Given the description of an element on the screen output the (x, y) to click on. 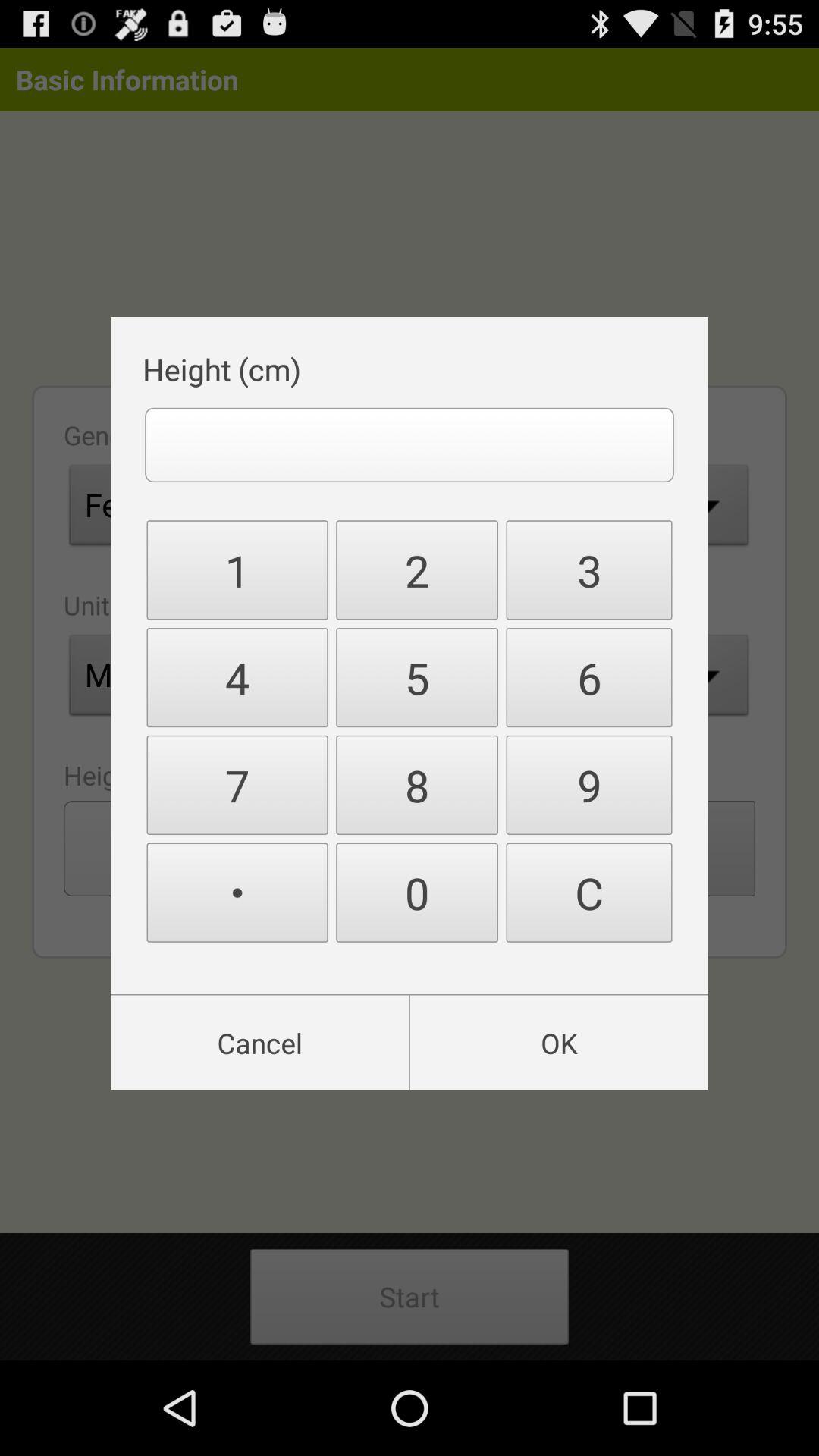
flip until c (589, 892)
